Given the description of an element on the screen output the (x, y) to click on. 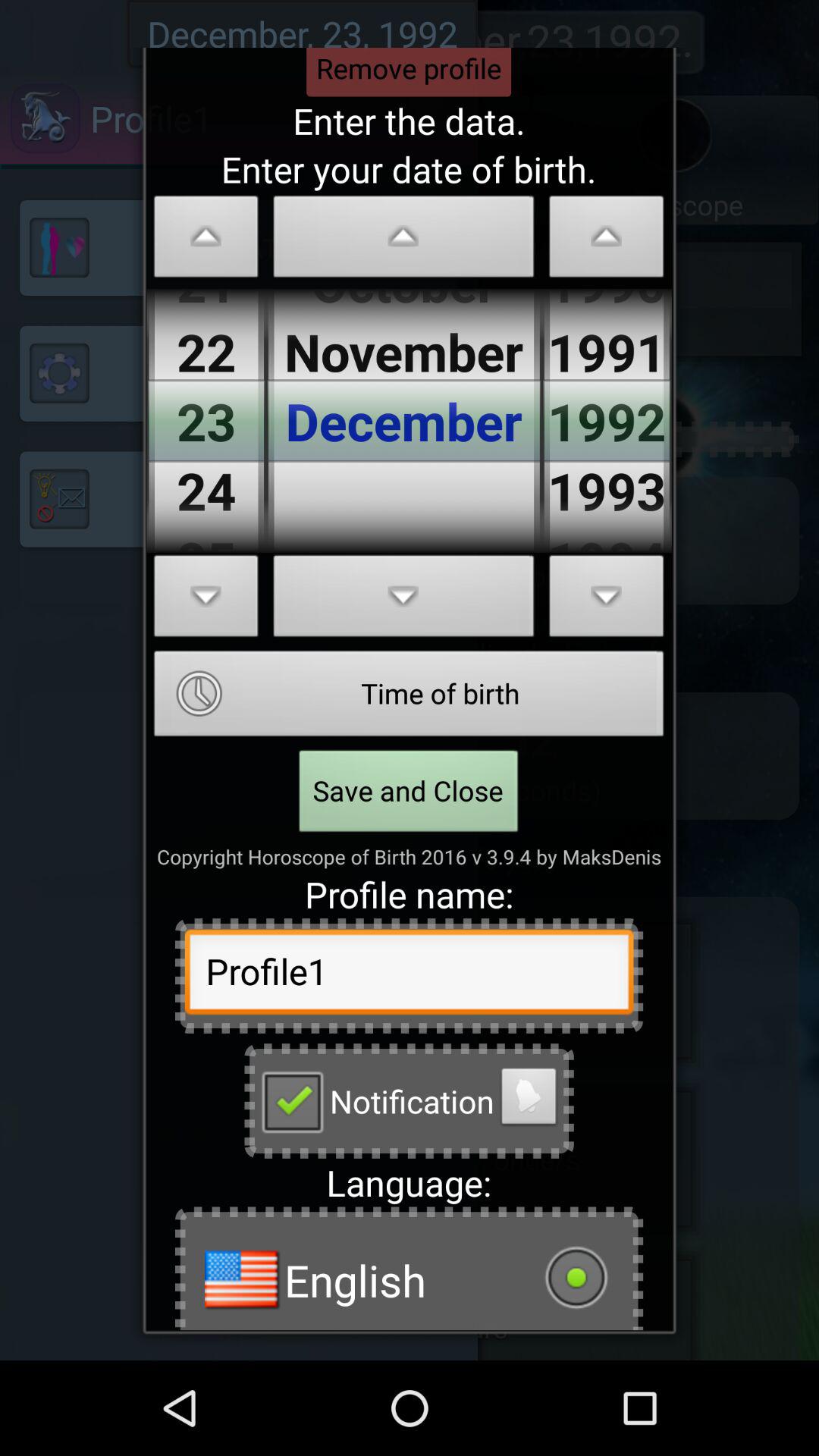
move up the month option (404, 240)
